Given the description of an element on the screen output the (x, y) to click on. 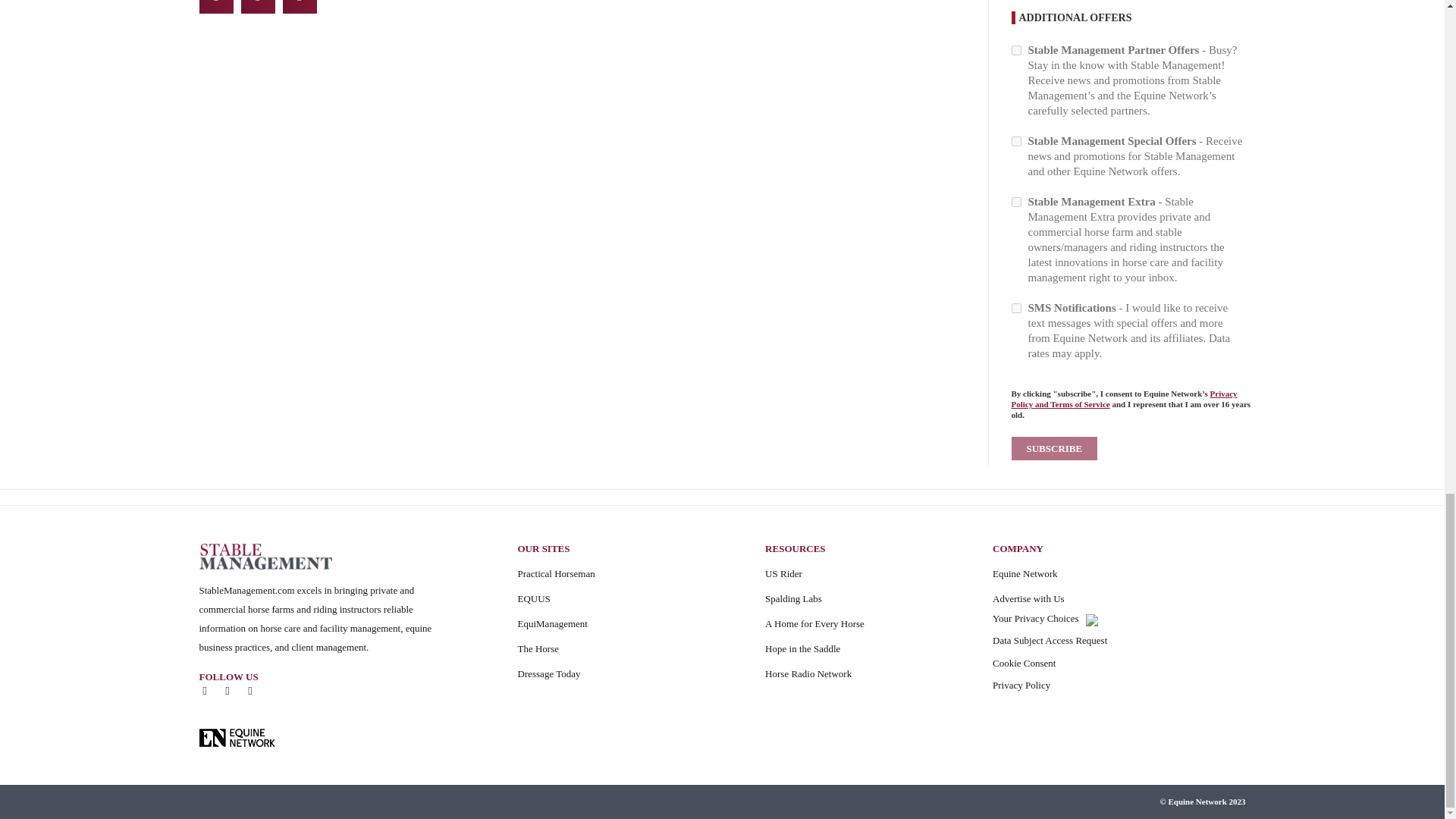
4abea021-0715-4258-8505-deecee9d4fc1 (1016, 141)
7d0c6f1d-69c5-4522-93be-35477d857179 (1016, 202)
e4e2edd8-40e7-4528-9fc3-6664a65b9fb2 (1016, 50)
SMS Notifications (1016, 307)
Subscribe (1054, 448)
